Given the description of an element on the screen output the (x, y) to click on. 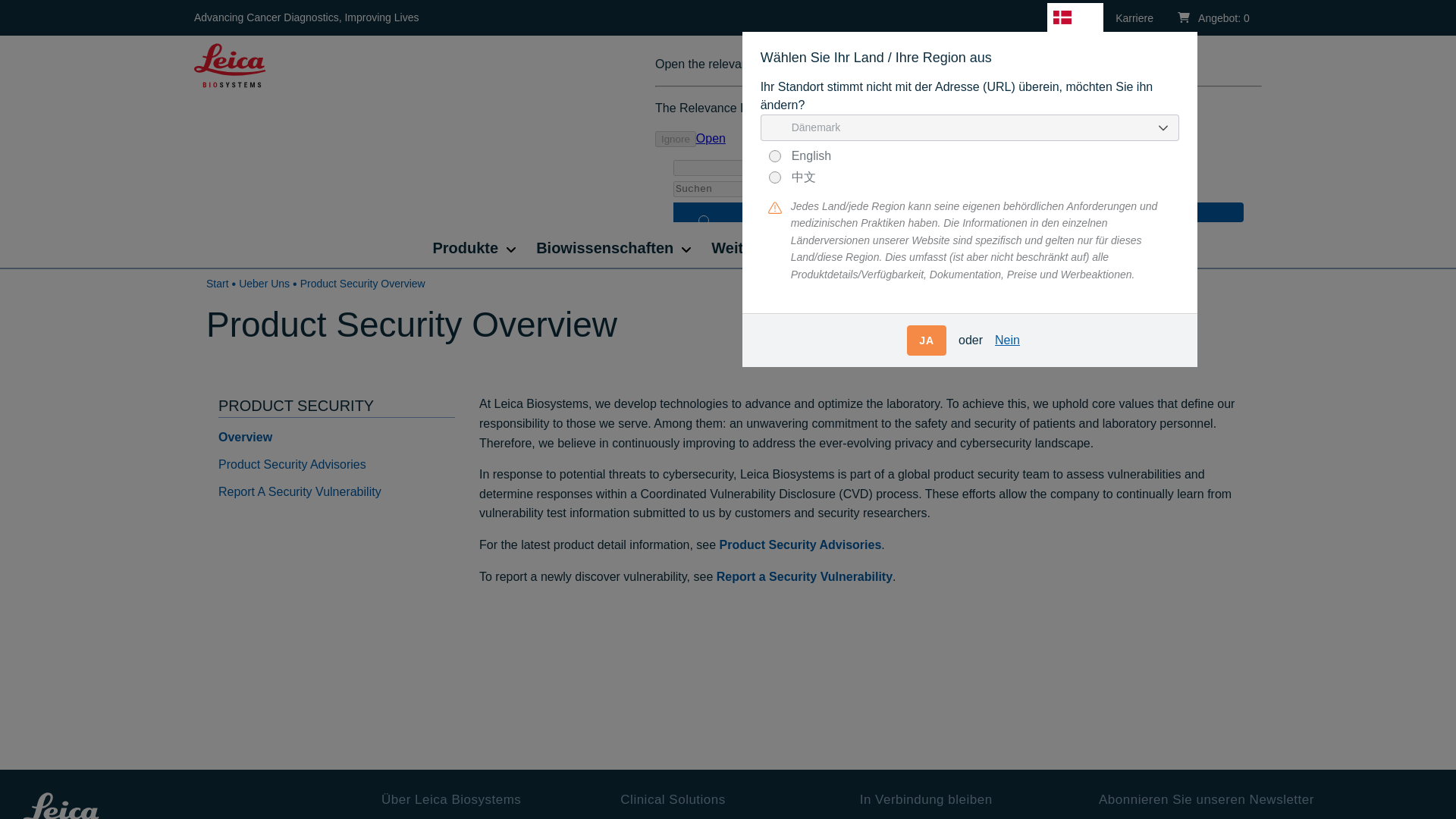
Biowissenschaften (604, 247)
Nein (1007, 340)
DK (1074, 17)
Angebot: 0 (1214, 17)
JA (926, 340)
Start (229, 63)
Karriere (1134, 17)
